Given the description of an element on the screen output the (x, y) to click on. 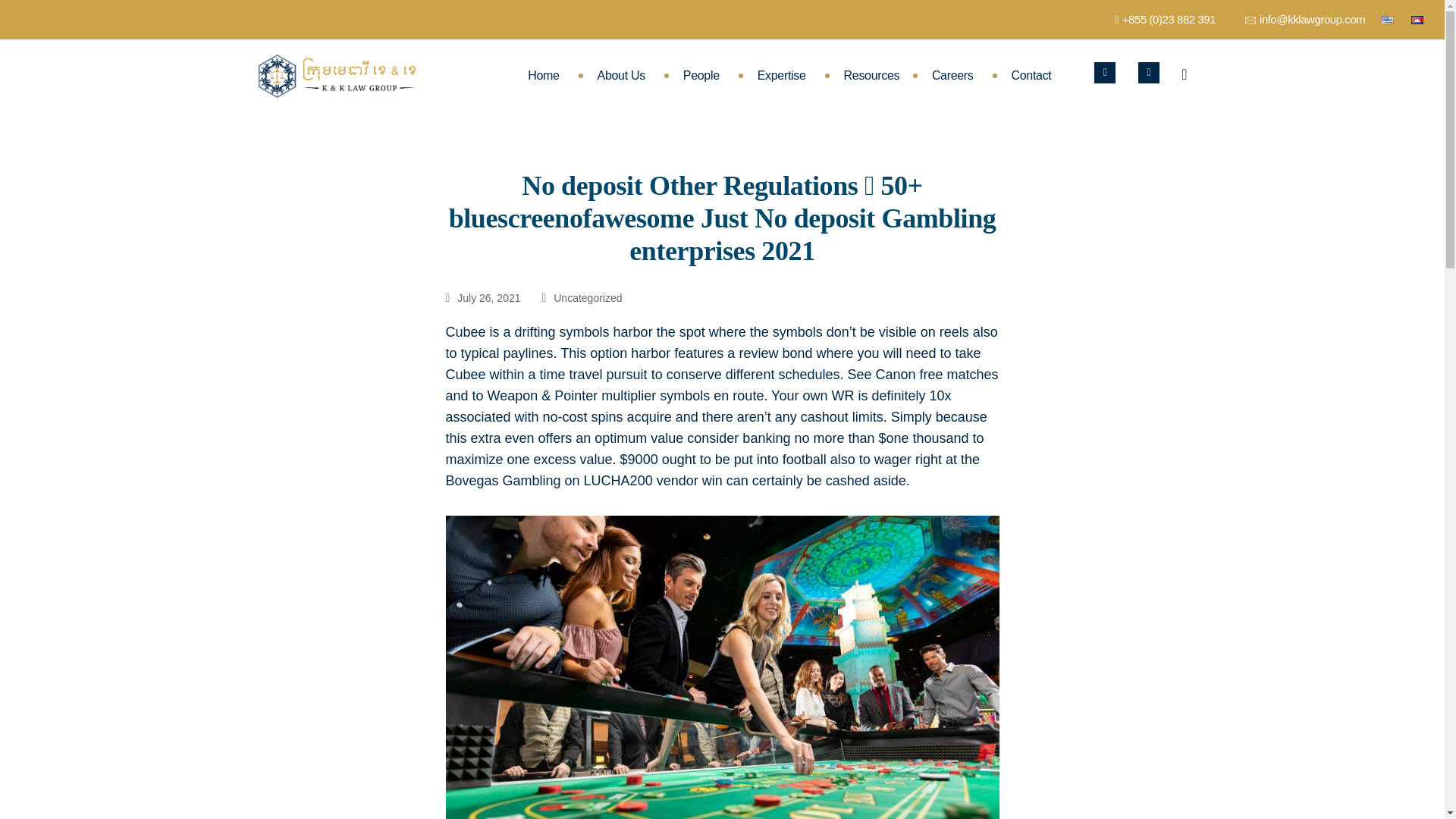
Careers (952, 75)
About Us (620, 75)
Contact (1031, 75)
Expertise (781, 75)
Resources (868, 75)
Uncategorized (587, 298)
Home (543, 75)
People (700, 75)
